Given the description of an element on the screen output the (x, y) to click on. 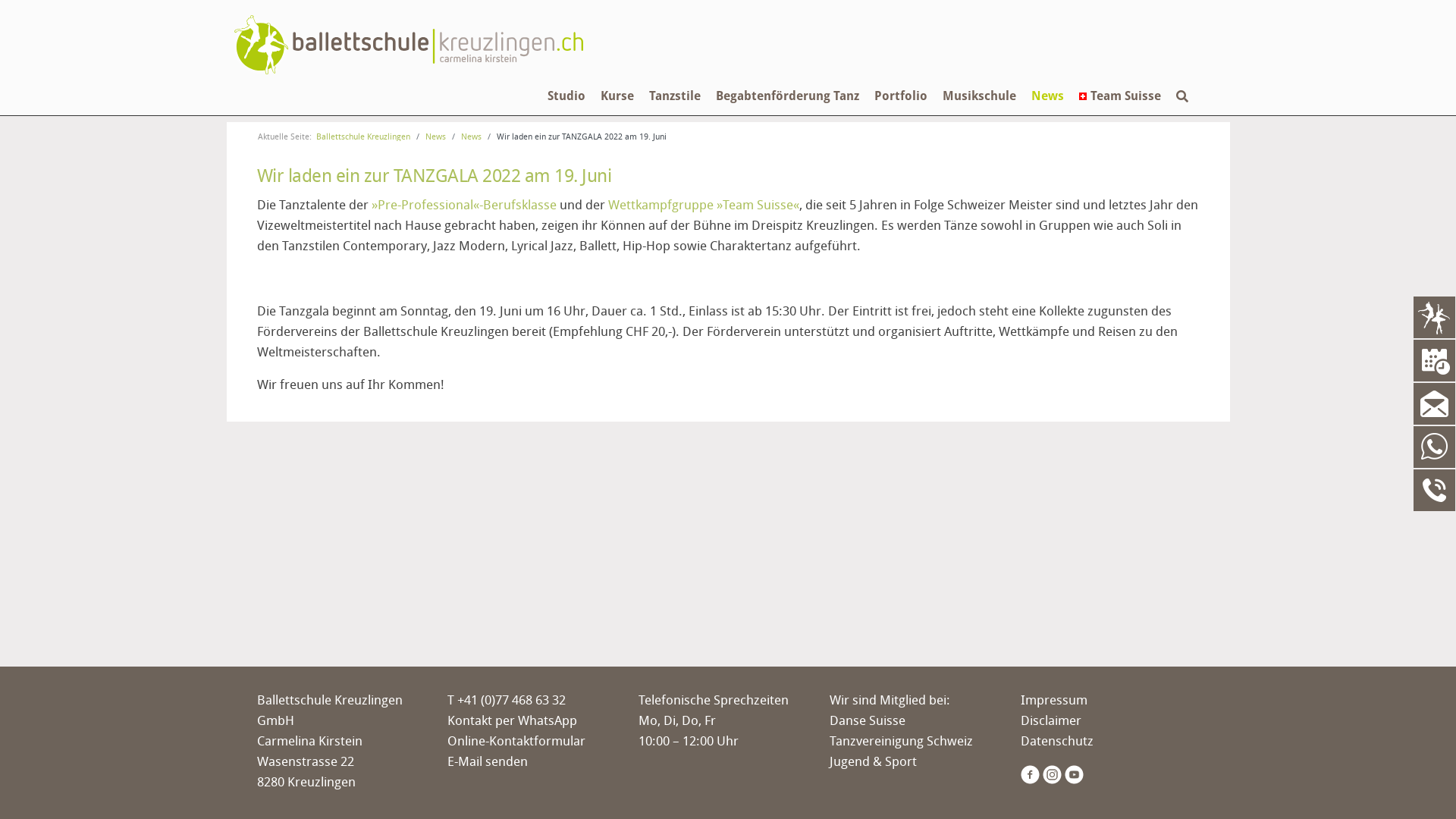
Zu unserem Instragram-Channel Element type: hover (1053, 772)
Team Suisse Element type: text (1119, 110)
Tanzvereinigung Schweiz Element type: text (900, 740)
Datenschutz Element type: text (1056, 740)
Kontakt per WhatsApp Element type: text (512, 719)
News Element type: text (1047, 110)
Impressum Element type: text (1053, 699)
Kurse Element type: text (616, 110)
Zu unseren Kontaktdaten Element type: hover (1434, 487)
News Element type: text (434, 135)
Zum Stundenplan Element type: hover (1434, 358)
Zum Kontaktformular Element type: hover (1434, 402)
Tanzstile Element type: text (674, 110)
News Element type: text (471, 135)
Jugend & Sport Element type: text (872, 760)
Zu unserem Youtube-Channel Element type: hover (1075, 772)
Musikschule Element type: text (978, 110)
Kontakt per WhatsApp Element type: hover (1434, 445)
Online-Kontaktformular Element type: text (516, 740)
Danse Suisse Element type: text (867, 719)
Zu unserem Facebook-Channel Element type: hover (1031, 772)
Studio Element type: text (566, 110)
Portfolio Element type: text (899, 110)
E-Mail senden Element type: text (487, 760)
Disclaimer Element type: text (1050, 719)
Ballettschule Kreuzlingen Element type: text (362, 135)
